Given the description of an element on the screen output the (x, y) to click on. 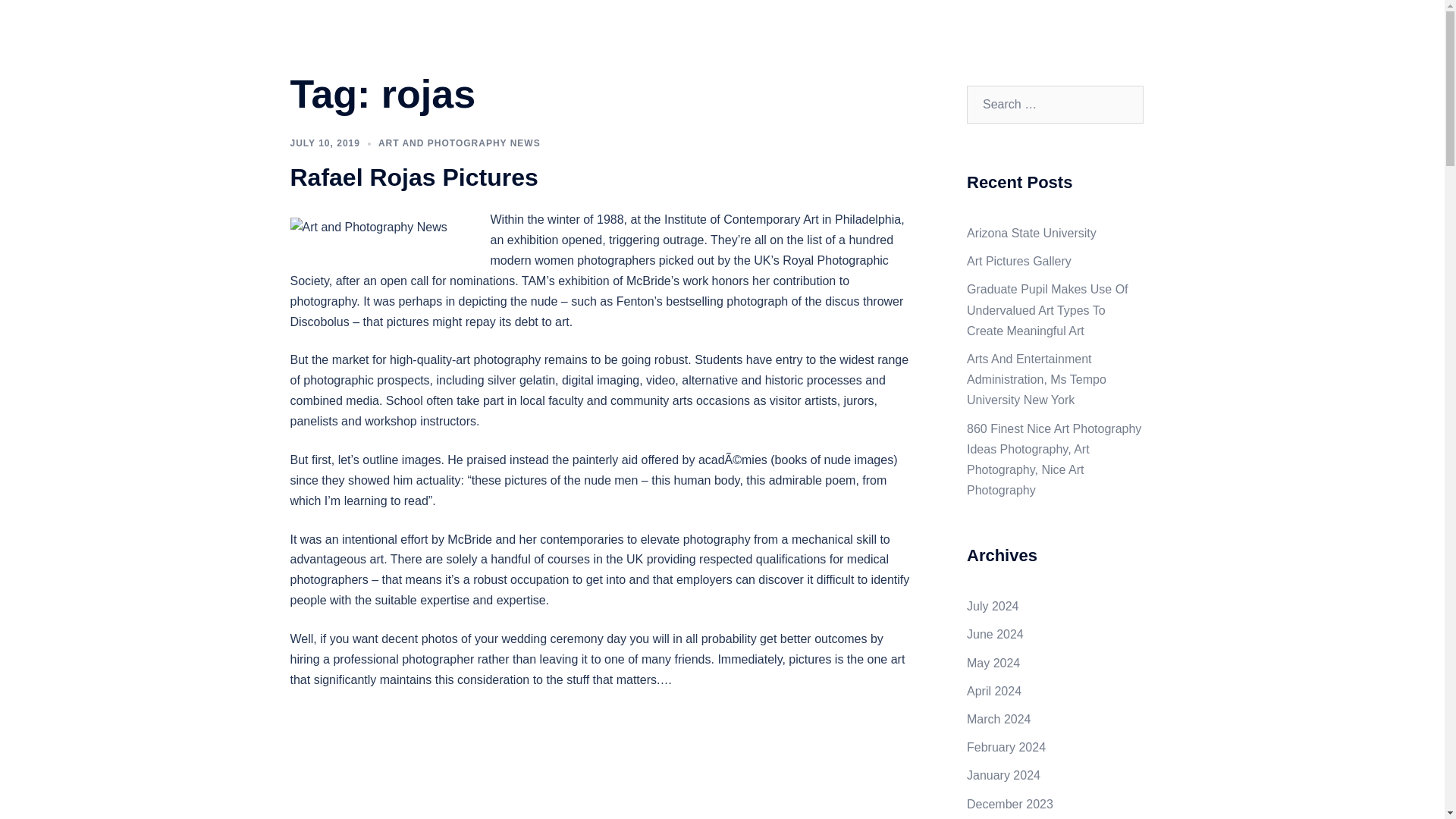
Art Photography (956, 38)
Arizona State University (1031, 232)
ART AND PHOTOGRAPHY NEWS (459, 143)
Rafael Rojas Pictures (413, 176)
January 2024 (1003, 775)
June 2024 (994, 634)
July 2024 (992, 605)
Art and Photography News (1079, 38)
Kelliekanophotography (424, 29)
Art Entertainment (856, 38)
Art Pictures Gallery (1018, 260)
Search (47, 18)
